Given the description of an element on the screen output the (x, y) to click on. 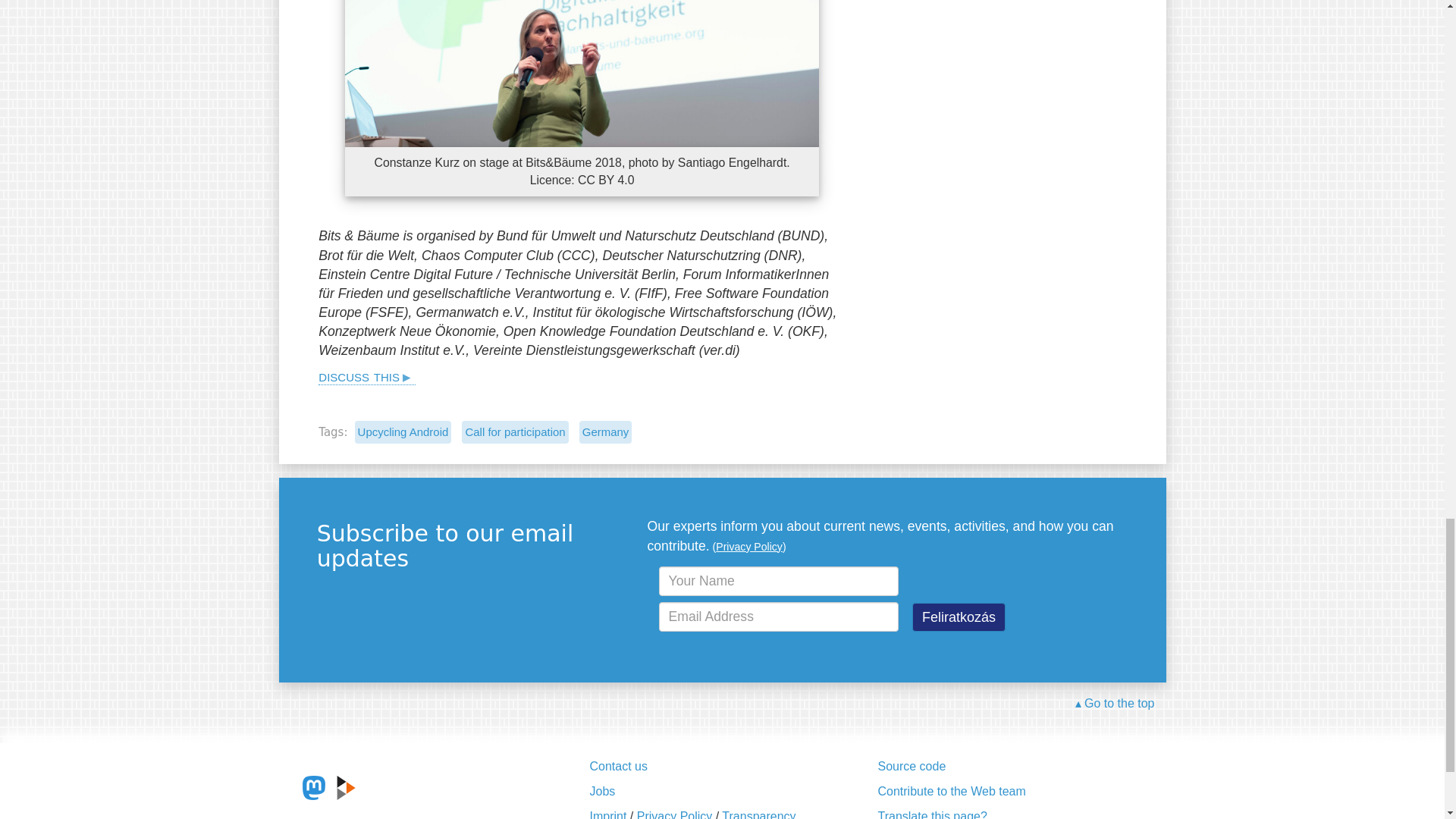
Upcycling Android (403, 431)
Mastodon (313, 787)
Germany (605, 431)
discuss this (366, 375)
Call for participation (514, 431)
Peertube (345, 787)
Privacy Policy (749, 546)
